Given the description of an element on the screen output the (x, y) to click on. 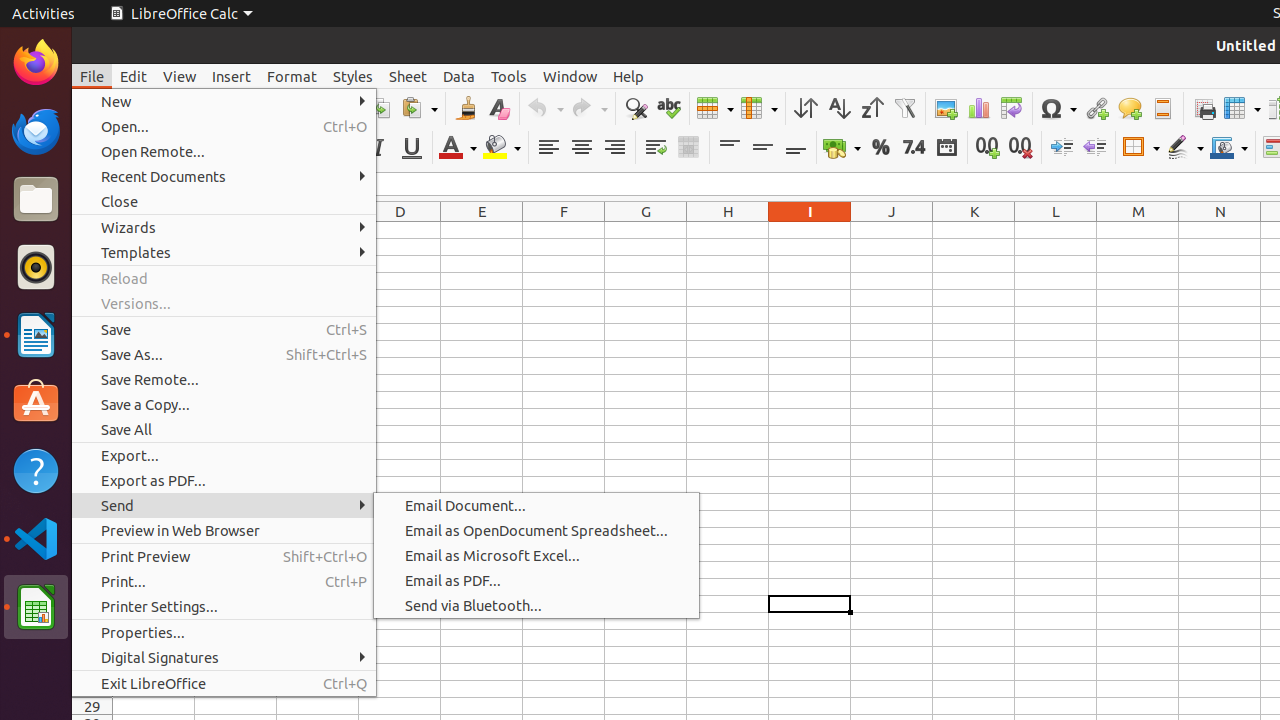
Clear Element type: push-button (498, 108)
Border Color Element type: push-button (1229, 147)
L1 Element type: table-cell (1056, 230)
Column Element type: push-button (759, 108)
Digital Signatures Element type: menu (224, 657)
